Given the description of an element on the screen output the (x, y) to click on. 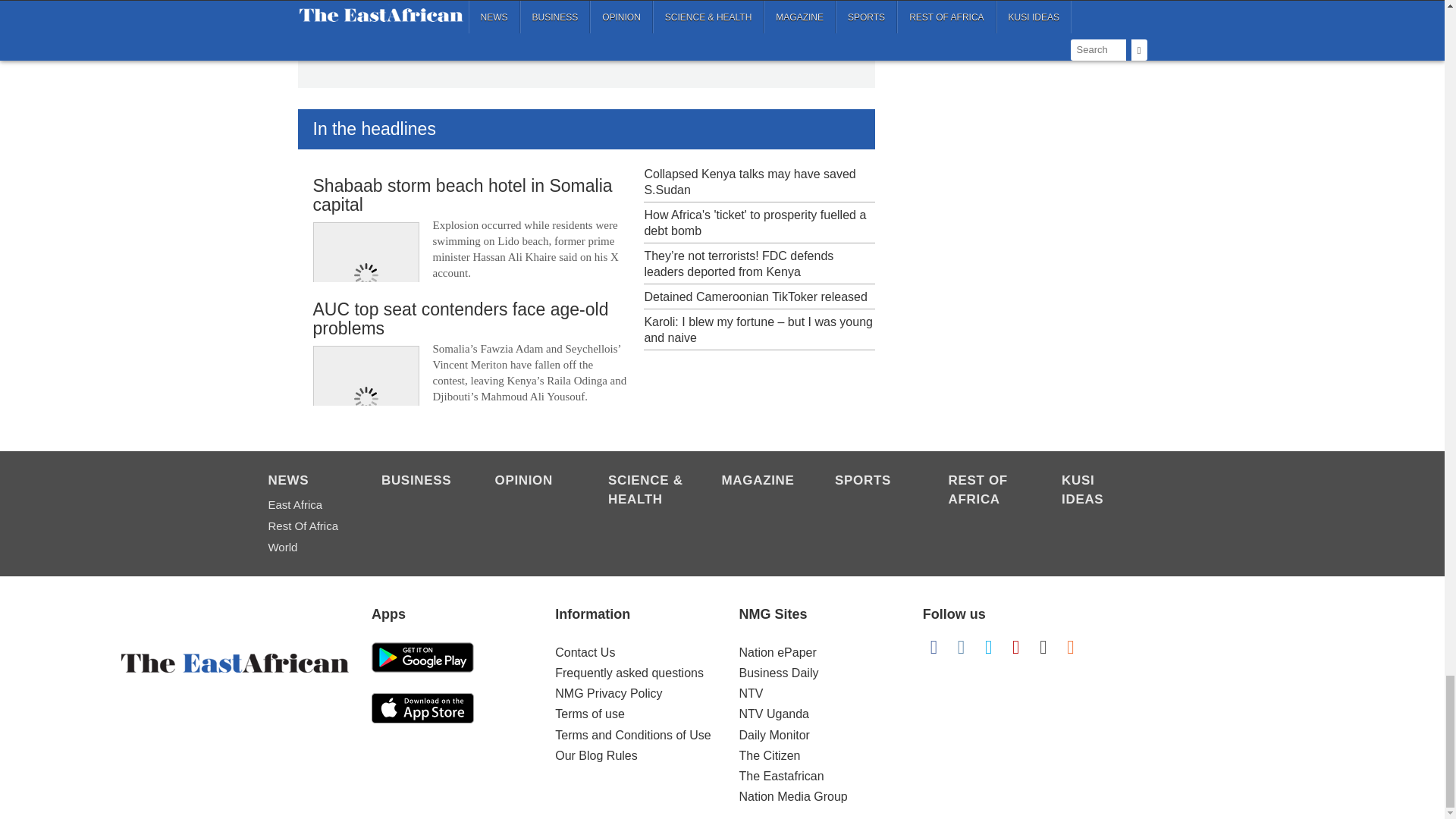
World (306, 547)
Opinion (533, 481)
Terms and Conditions of Use (632, 735)
Magazine (760, 481)
East Africa (306, 504)
News (306, 481)
KUSI IDEAS (1099, 491)
Terms of use (589, 713)
Rest of Africa (306, 526)
NMG Privacy Policy (608, 693)
